Given the description of an element on the screen output the (x, y) to click on. 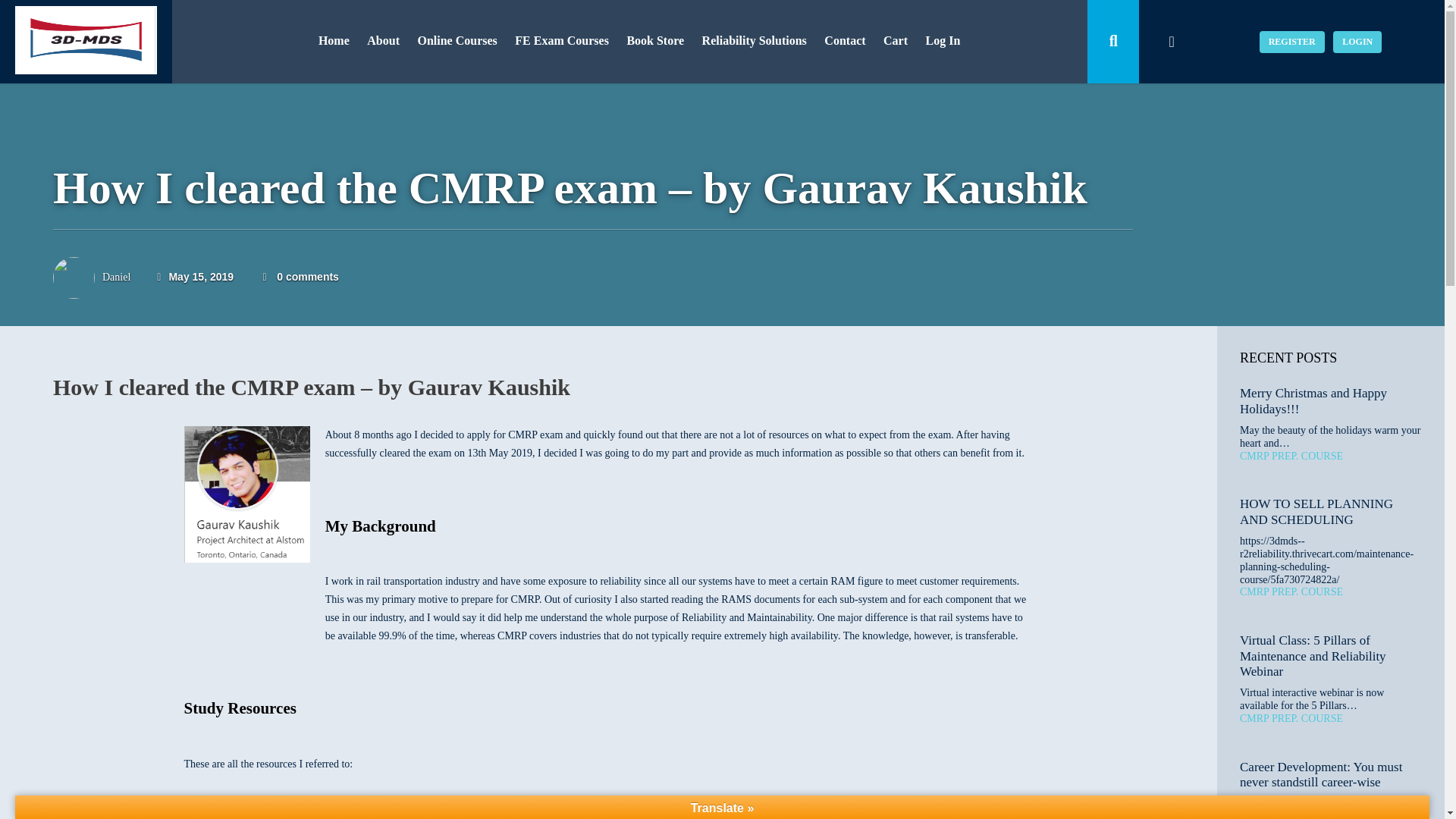
About (383, 41)
Log In (943, 41)
Reliability Solutions (753, 41)
Book Store (654, 41)
View all posts by Daniel (116, 276)
REGISTER (1291, 41)
FE Exam Courses (560, 41)
May 15, 2019 (194, 276)
Contact (844, 41)
Home (333, 41)
